Given the description of an element on the screen output the (x, y) to click on. 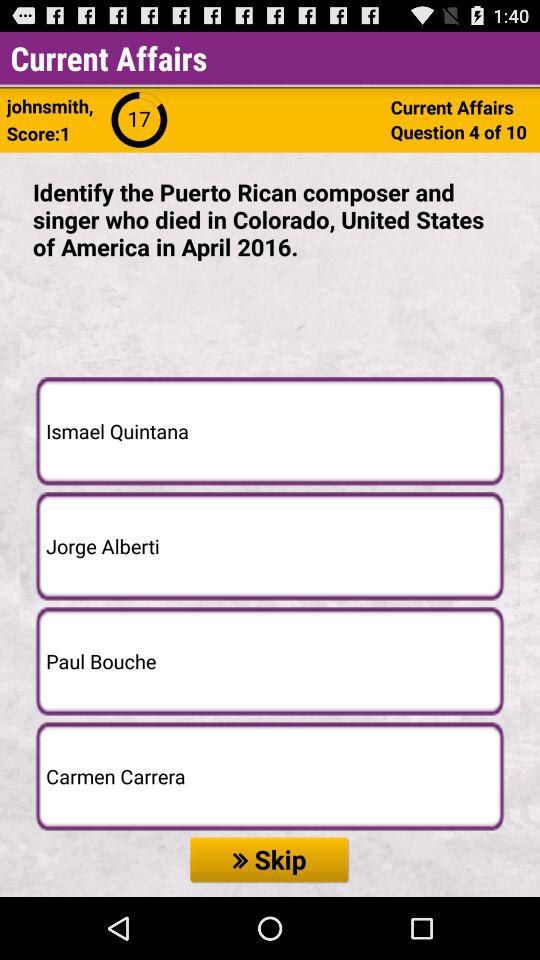
tap item above paul bouche item (270, 545)
